Given the description of an element on the screen output the (x, y) to click on. 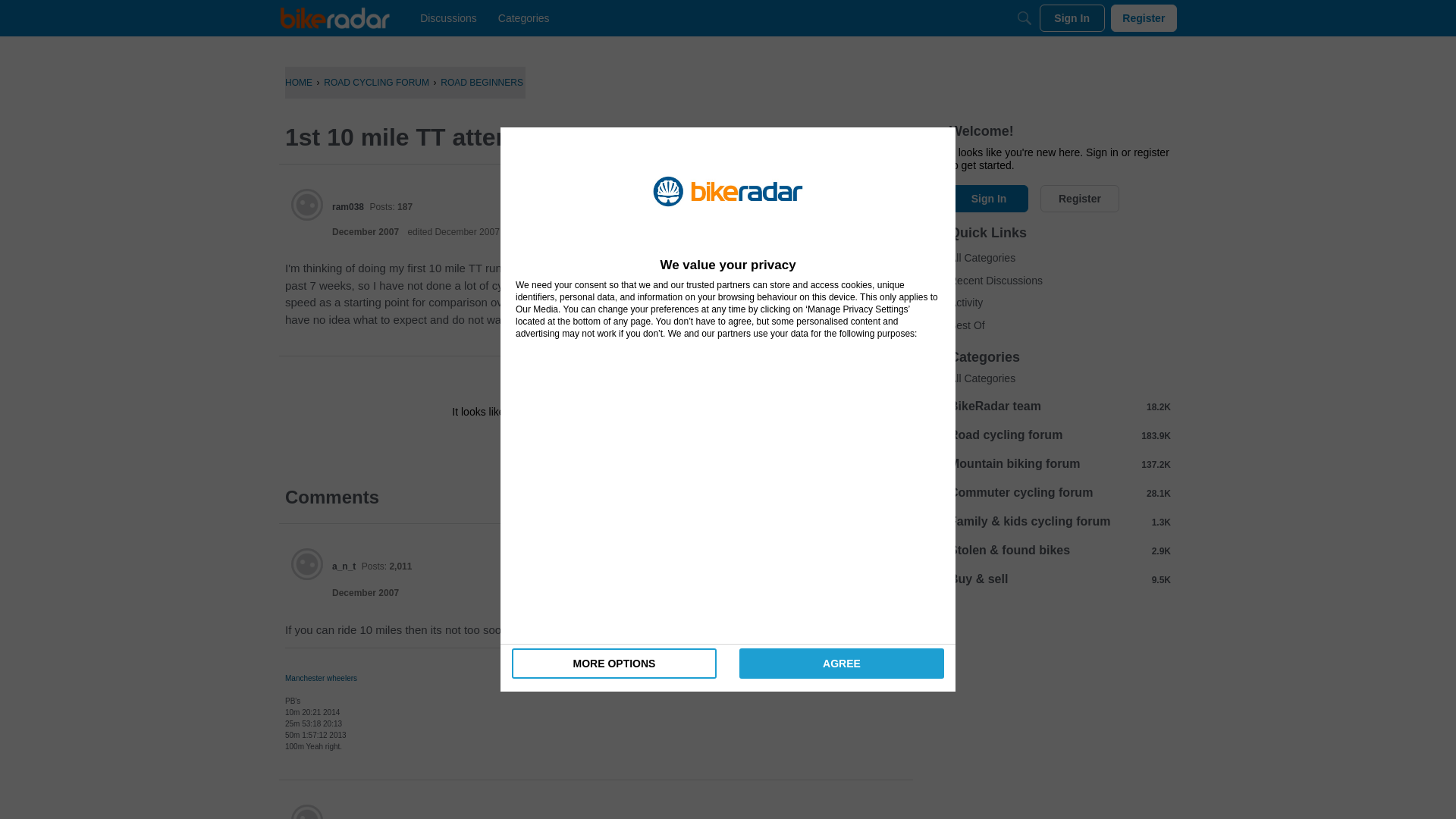
Register (1143, 17)
Search (1024, 17)
Register (638, 445)
ROAD BEGINNERS (481, 81)
Register (638, 445)
Sign In (547, 445)
Sign In (547, 445)
December 2007 (364, 231)
ram038 (347, 206)
Discussions (448, 17)
December 13, 2007 5:30PM (364, 593)
Categories (524, 17)
ROAD CYCLING FORUM (376, 81)
CarlosFerreiro (362, 818)
December 2007 (364, 593)
